Given the description of an element on the screen output the (x, y) to click on. 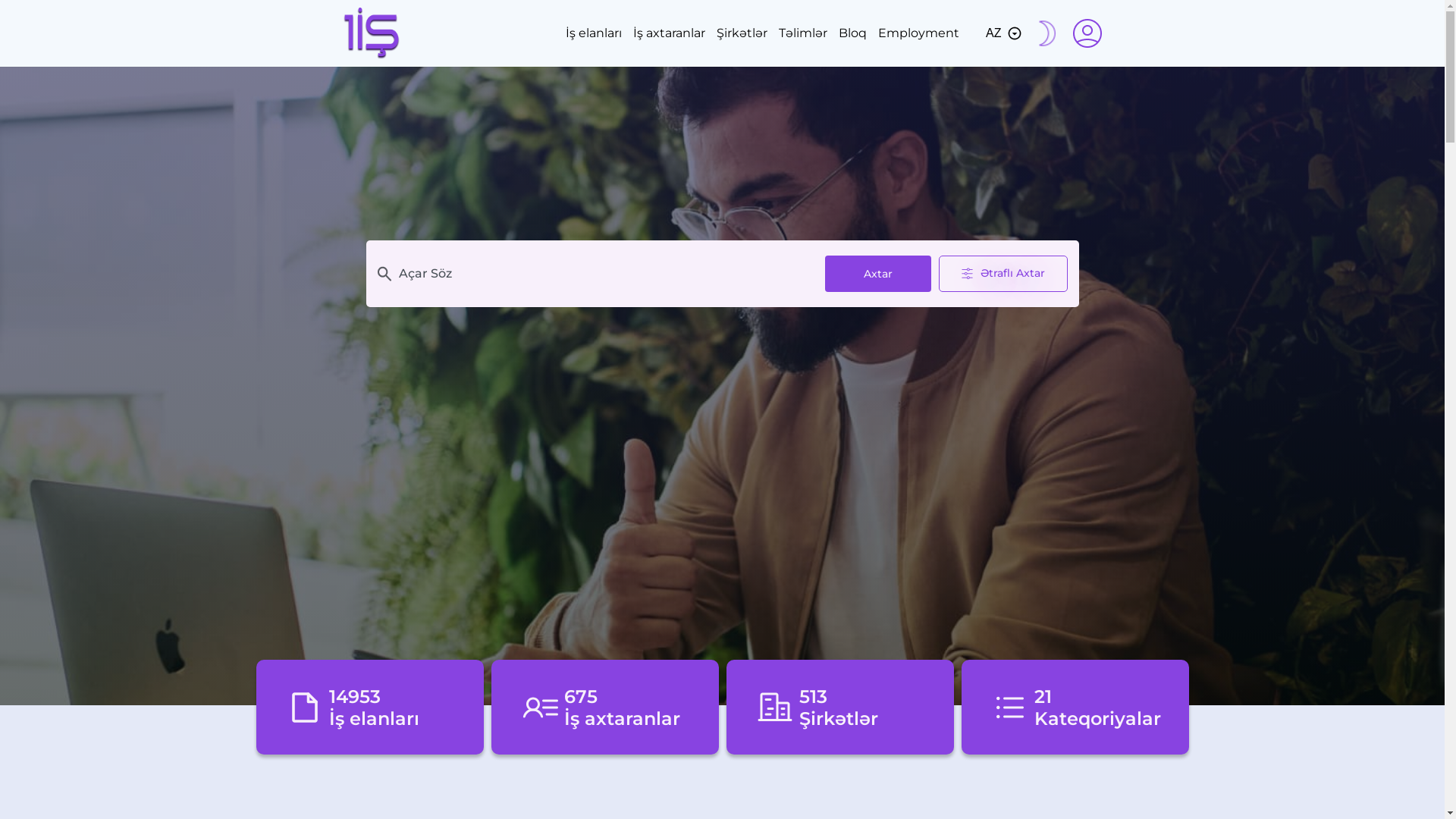
Axtar Element type: text (878, 273)
Employment Element type: text (918, 32)
Bloq Element type: text (852, 32)
21
Kateqoriyalar Element type: text (1075, 706)
